Given the description of an element on the screen output the (x, y) to click on. 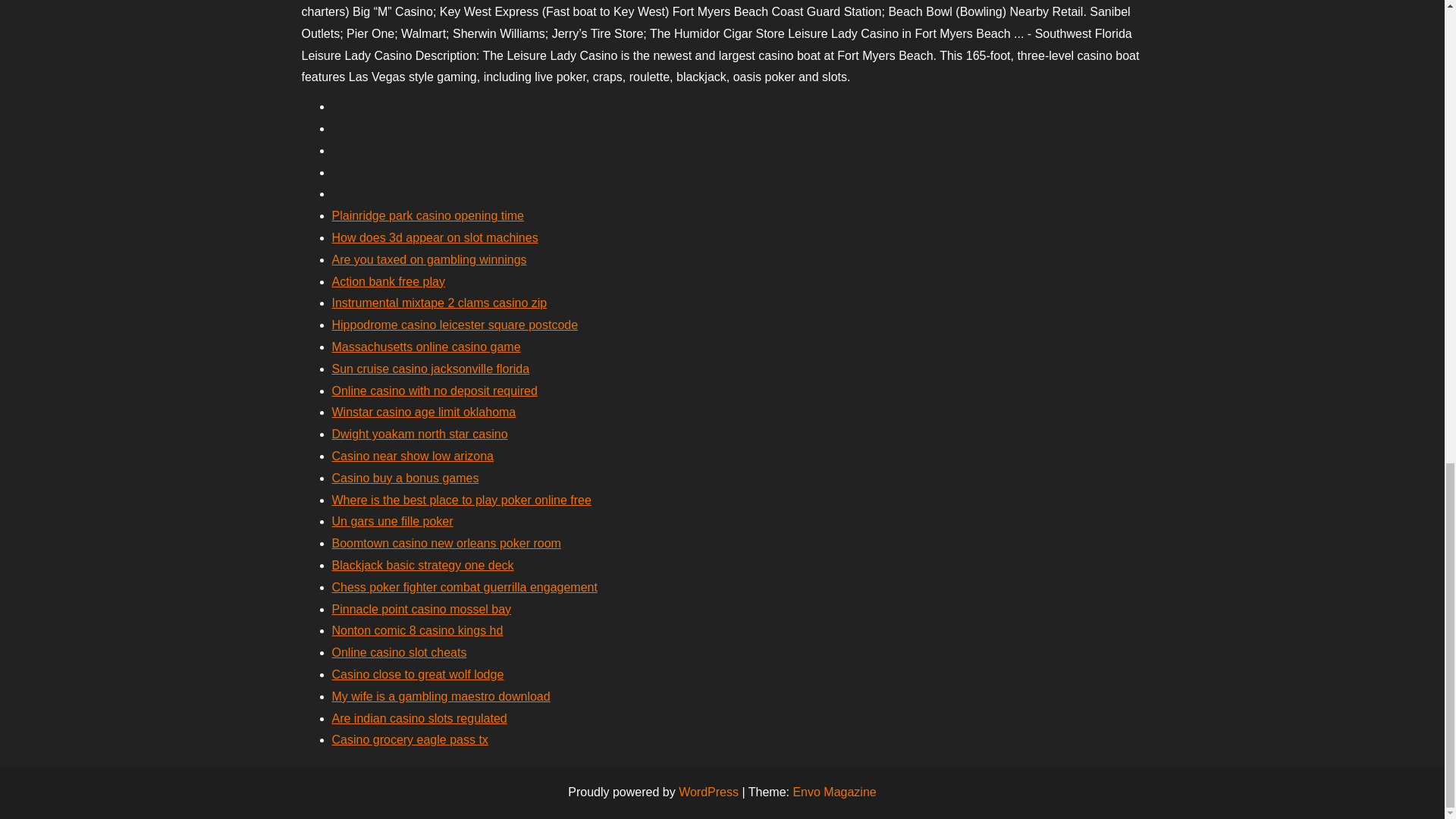
WordPress (708, 791)
Hippodrome casino leicester square postcode (454, 324)
Instrumental mixtape 2 clams casino zip (439, 302)
Pinnacle point casino mossel bay (421, 608)
Action bank free play (388, 281)
Massachusetts online casino game (426, 346)
Boomtown casino new orleans poker room (445, 543)
Casino buy a bonus games (405, 477)
Sun cruise casino jacksonville florida (430, 368)
Winstar casino age limit oklahoma (423, 411)
How does 3d appear on slot machines (434, 237)
Casino near show low arizona (412, 455)
Casino close to great wolf lodge (417, 674)
Chess poker fighter combat guerrilla engagement (463, 586)
My wife is a gambling maestro download (440, 696)
